Given the description of an element on the screen output the (x, y) to click on. 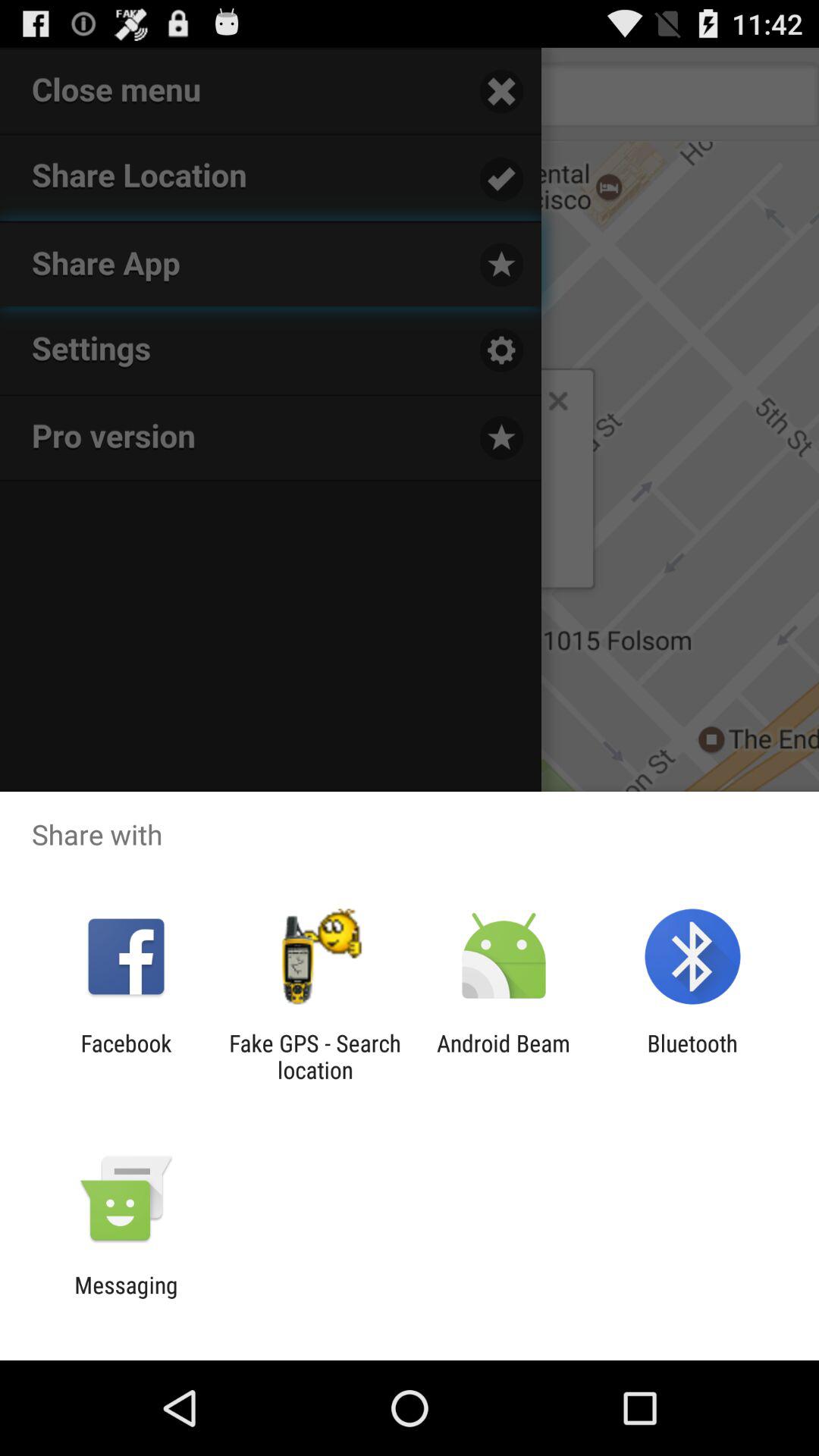
click the android beam item (503, 1056)
